Given the description of an element on the screen output the (x, y) to click on. 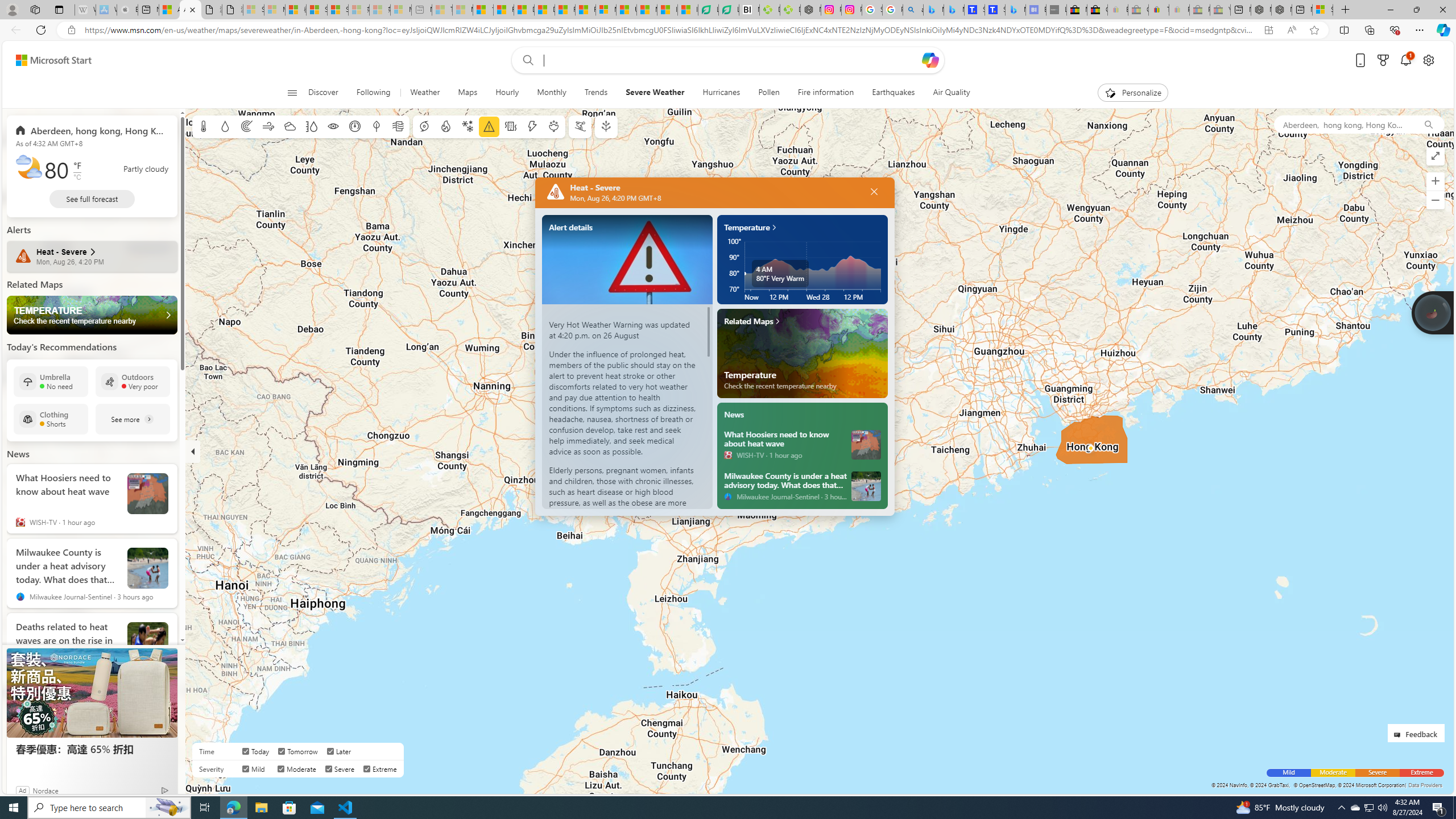
Personalize (1132, 92)
Air Quality (951, 92)
Safety in Our Products - Google Safety Center (871, 9)
Sign in to your Microsoft account (1322, 9)
Data Providers (1424, 784)
Pollen (769, 92)
Open navigation menu (292, 92)
Clouds (289, 126)
Severe Weather (655, 92)
